Given the description of an element on the screen output the (x, y) to click on. 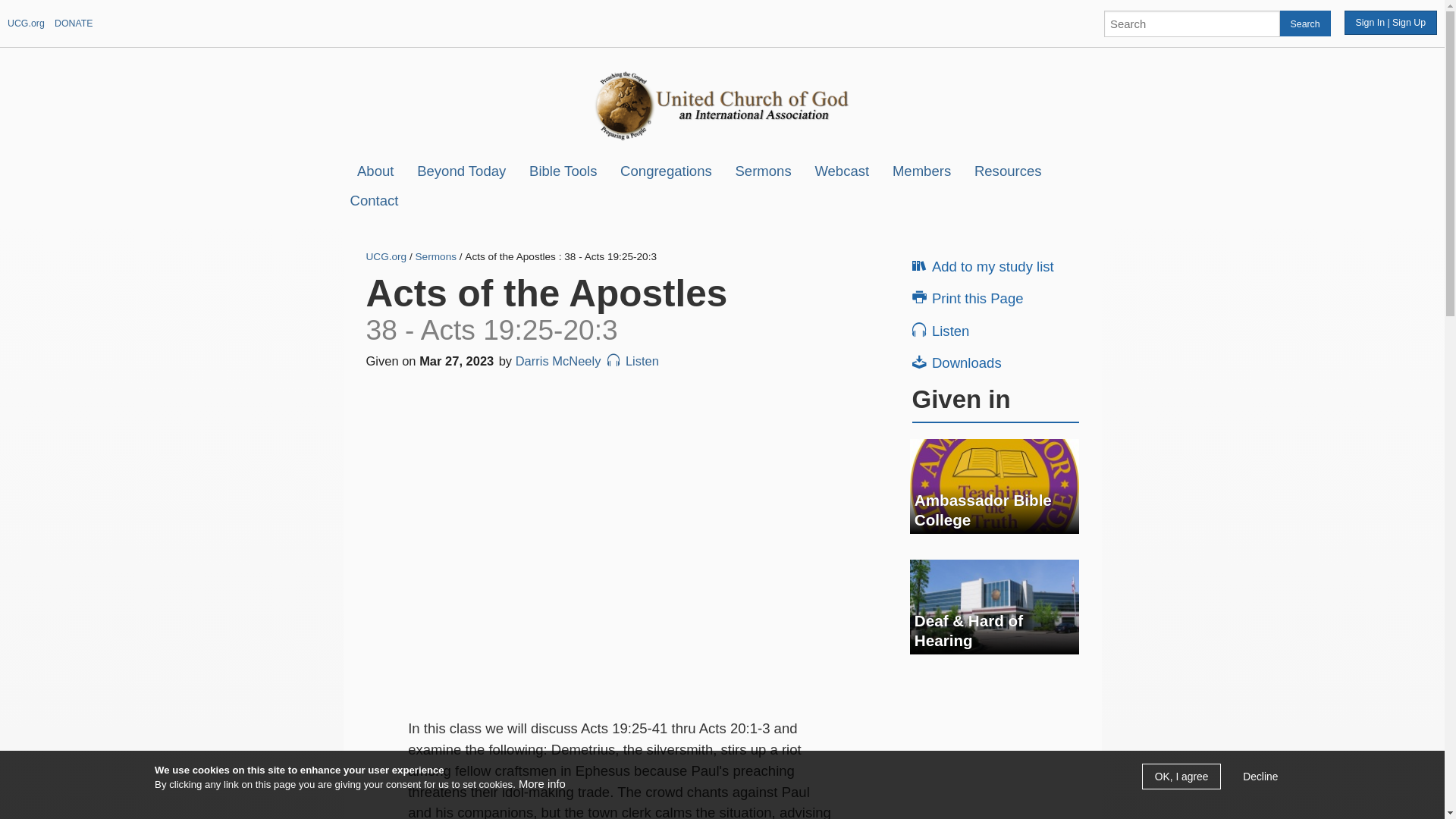
About (375, 170)
Skip to main content (682, 1)
Print this Page (998, 297)
View user profile. (558, 360)
Enter the terms you wish to search for. (1191, 23)
Search (1304, 23)
Beyond Today (461, 170)
More info (542, 784)
Decline (1260, 776)
OK, I agree (1181, 776)
Search (1304, 23)
Bible Tools (563, 170)
UCG.org (26, 23)
DONATE (74, 23)
